Given the description of an element on the screen output the (x, y) to click on. 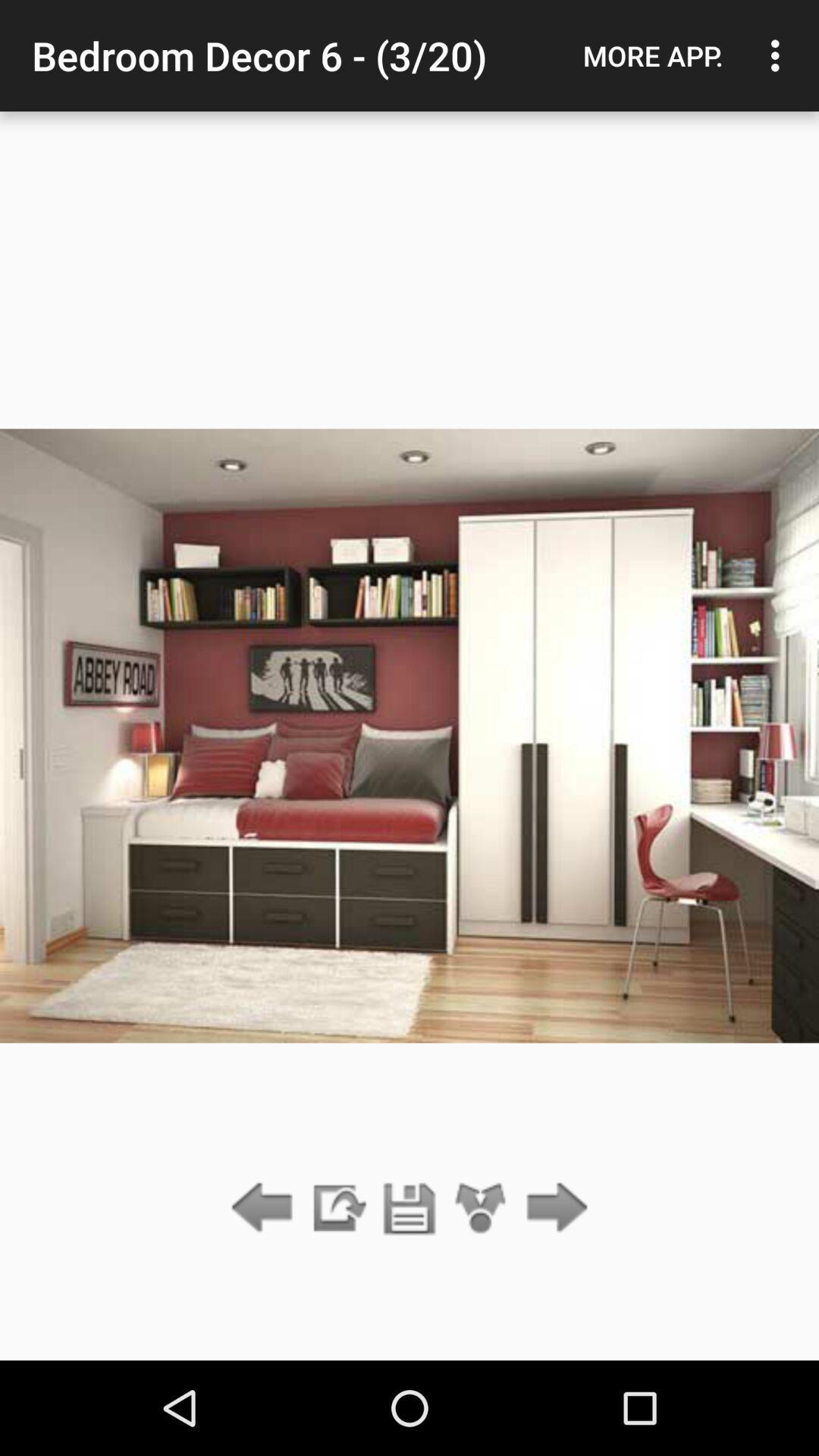
tap more app. icon (653, 55)
